Given the description of an element on the screen output the (x, y) to click on. 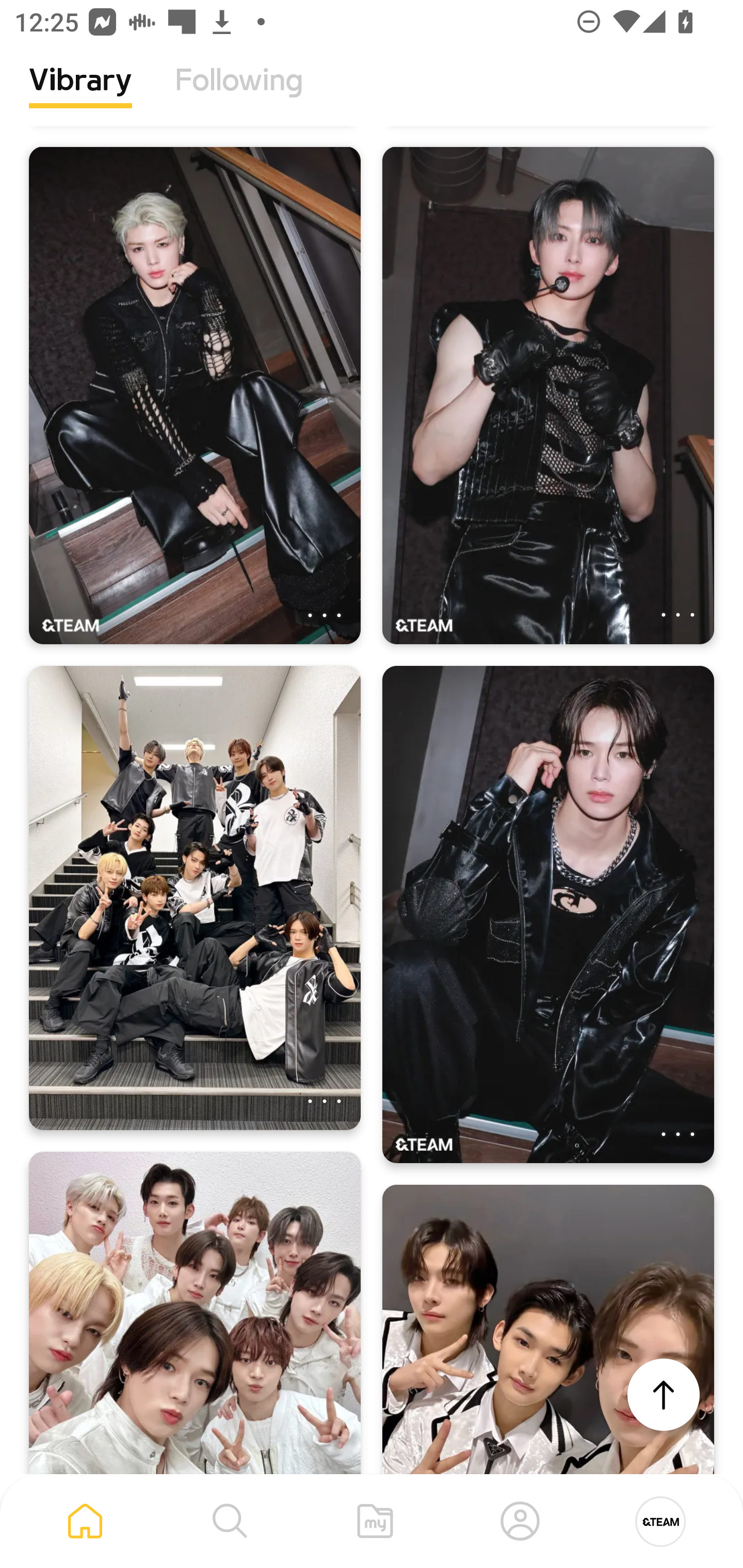
Vibrary (80, 95)
Following (239, 95)
